Given the description of an element on the screen output the (x, y) to click on. 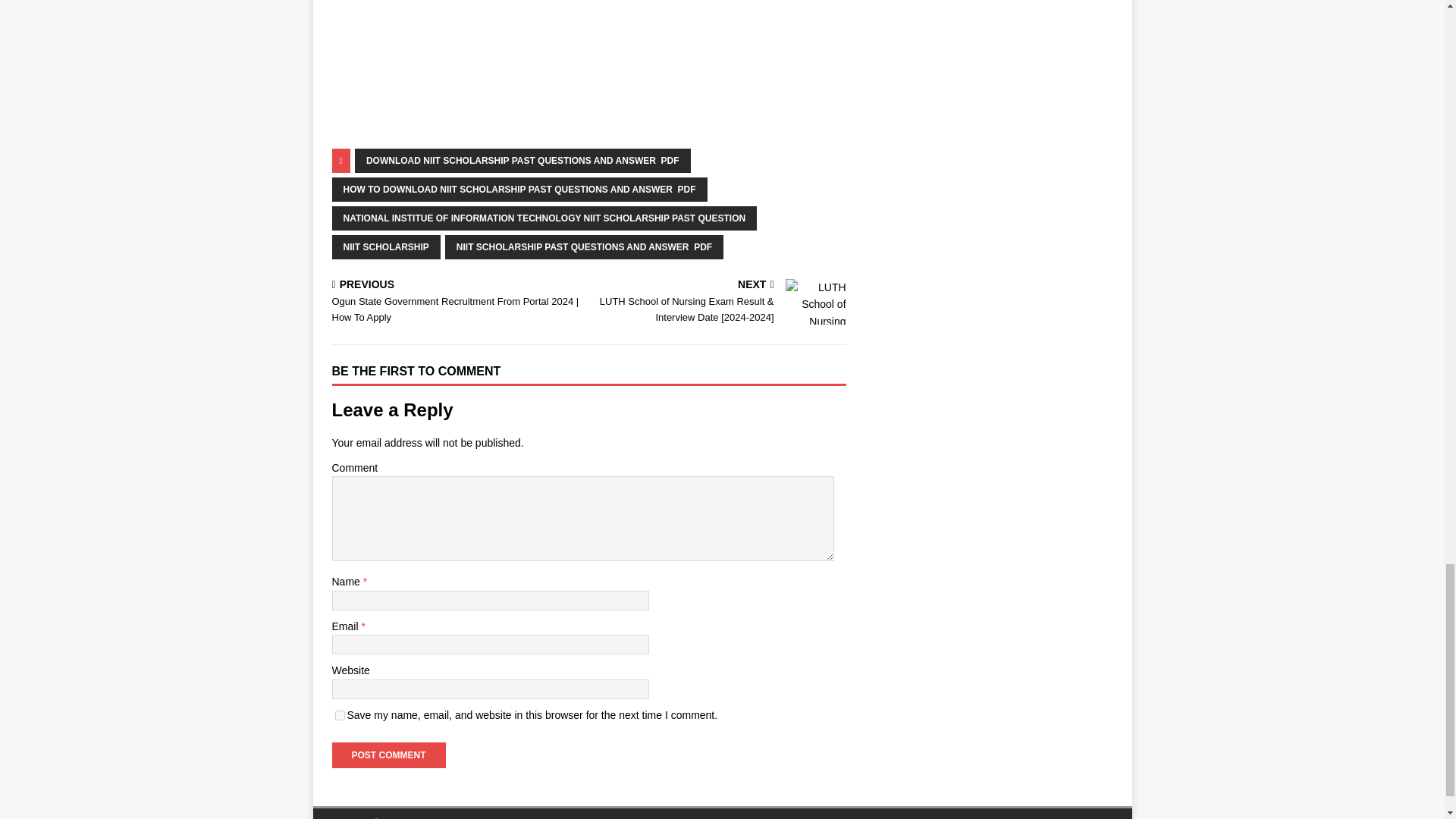
Post Comment (388, 755)
NIIT SCHOLARSHIP (386, 247)
yes (339, 715)
Post Comment (388, 755)
NIIT SCHOLARSHIP PAST QUESTIONS AND ANSWER  PDF (584, 247)
DOWNLOAD NIIT SCHOLARSHIP PAST QUESTIONS AND ANSWER  PDF (522, 160)
